Given the description of an element on the screen output the (x, y) to click on. 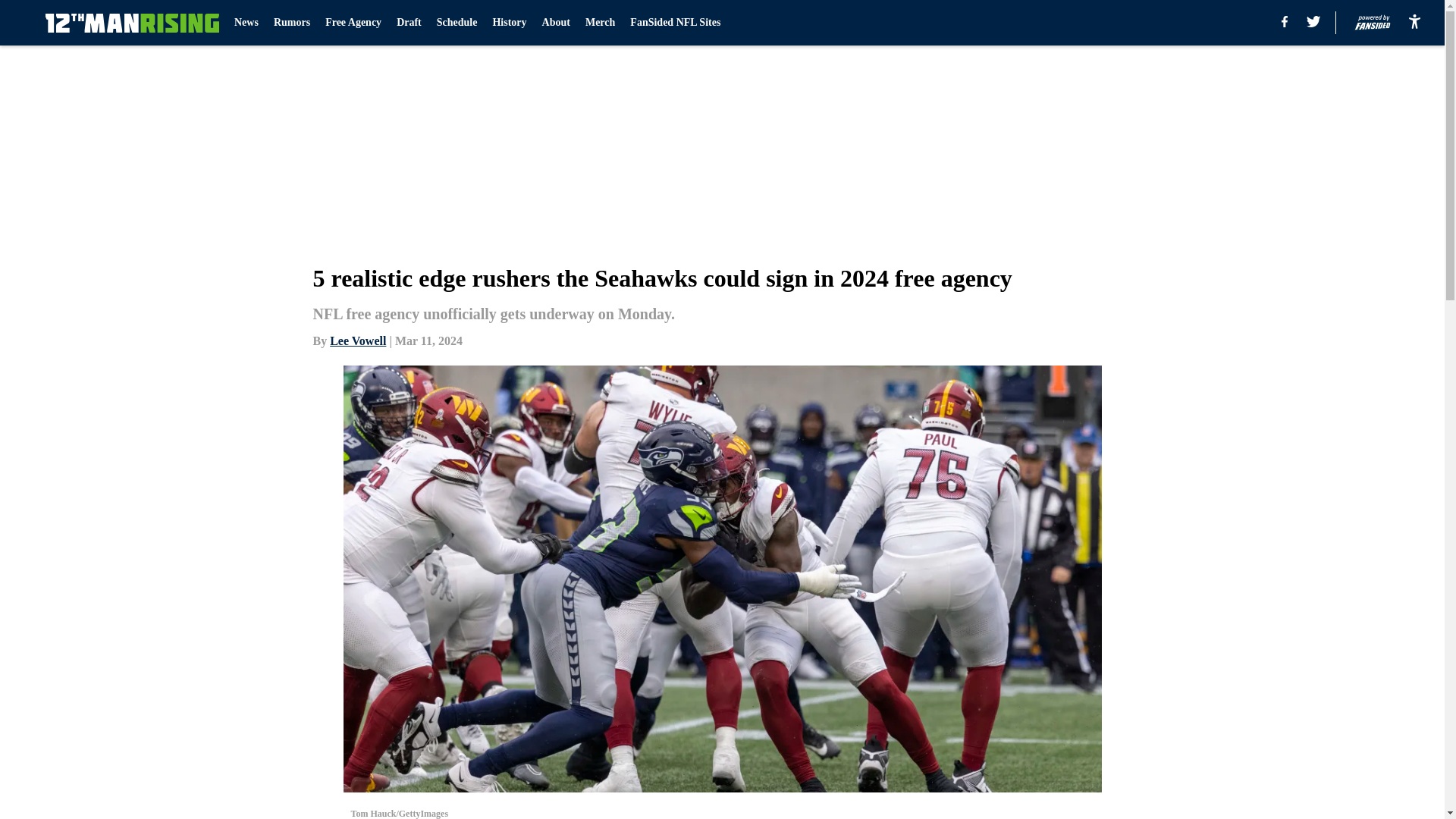
Lee Vowell (357, 340)
News (246, 22)
About (555, 22)
Schedule (456, 22)
FanSided NFL Sites (675, 22)
History (508, 22)
Draft (409, 22)
Free Agency (352, 22)
Merch (599, 22)
Rumors (291, 22)
